Given the description of an element on the screen output the (x, y) to click on. 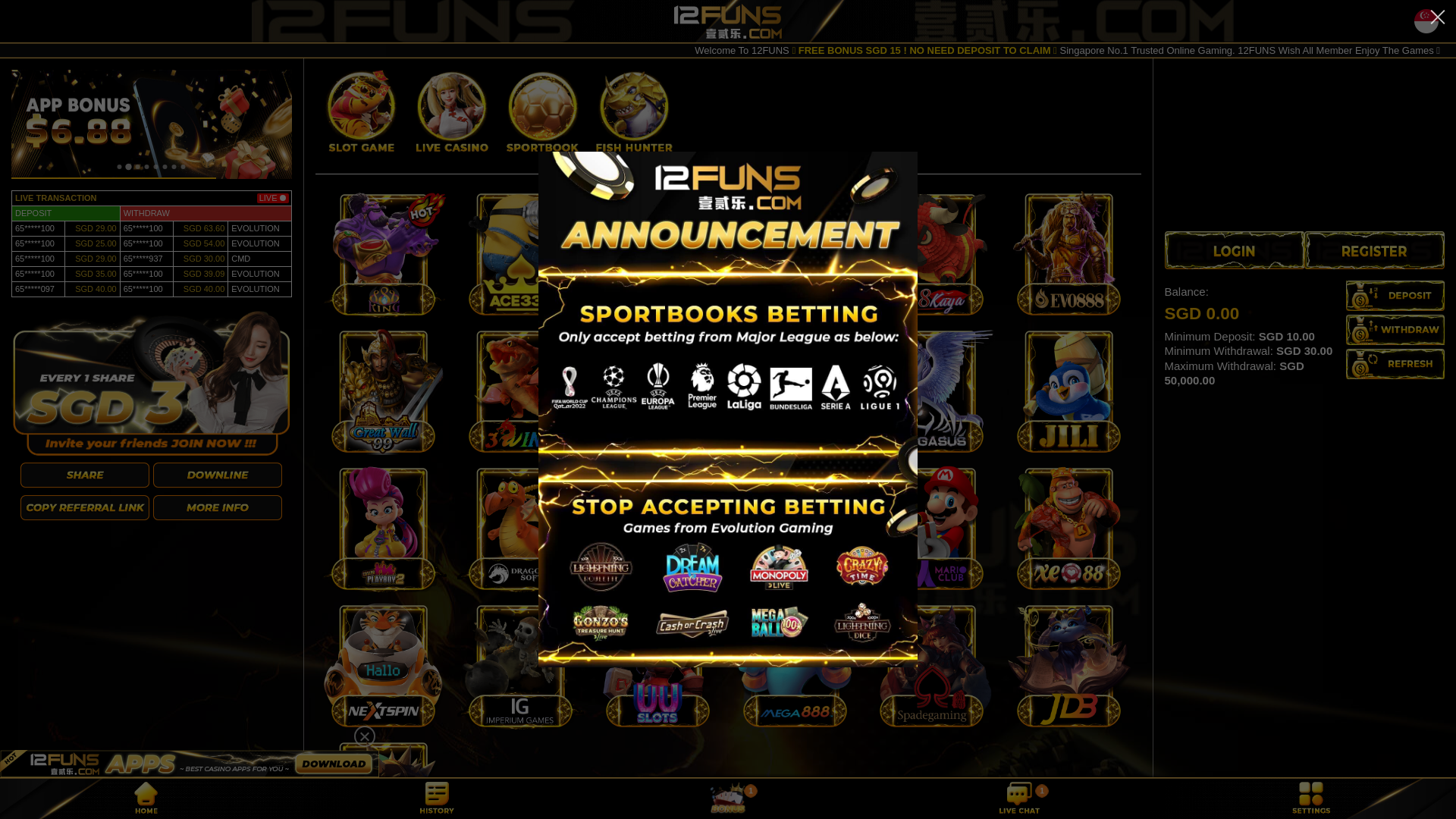
Copy Referrer Link Element type: text (84, 397)
More Info Element type: text (217, 397)
LOGIN Element type: text (1234, 250)
Downline Element type: text (217, 364)
REGISTER Element type: text (1374, 250)
WITHDRAW Element type: text (1395, 329)
REFRESH Element type: text (1395, 363)
Invite Friend Element type: text (84, 364)
DEPOSIT Element type: text (1395, 295)
